Given the description of an element on the screen output the (x, y) to click on. 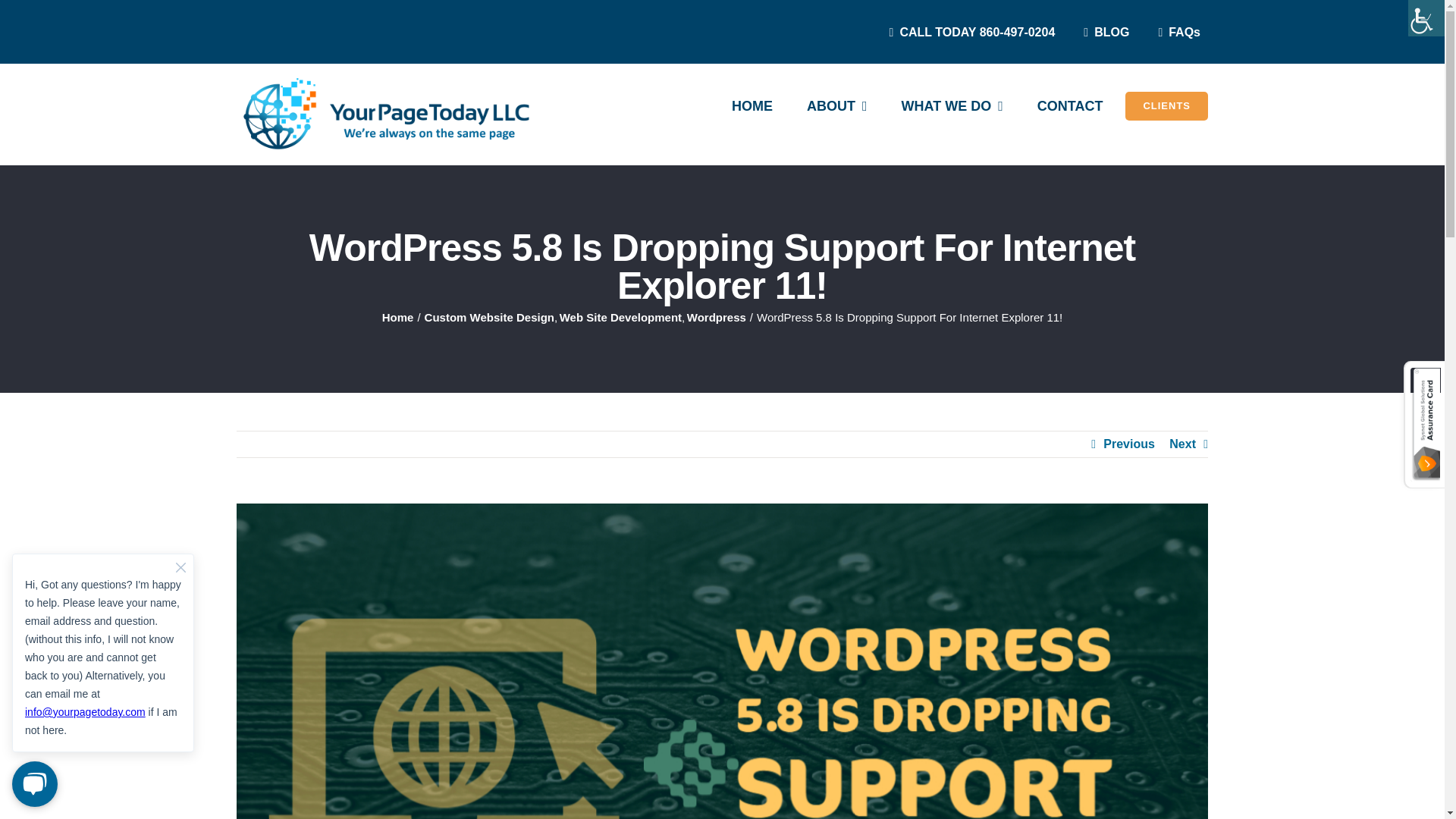
WHAT WE DO (951, 106)
ABOUT (836, 106)
HOME (752, 106)
CALL TODAY 860-497-0204 (969, 31)
BLOG (1103, 31)
FAQs (1176, 31)
